Given the description of an element on the screen output the (x, y) to click on. 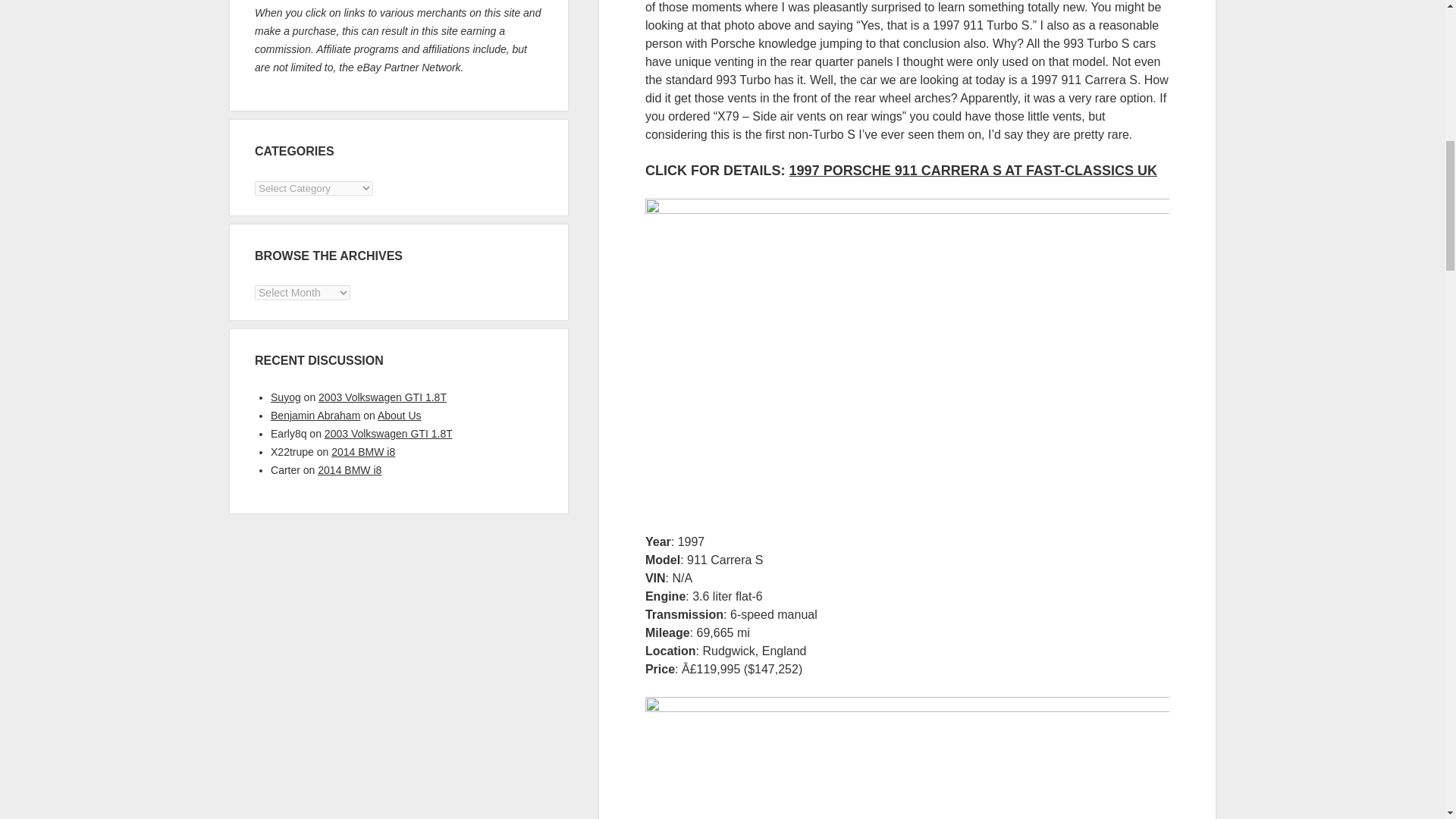
Suyog (285, 397)
2003 Volkswagen GTI 1.8T (388, 433)
2014 BMW i8 (362, 451)
Benjamin Abraham (314, 415)
About Us (399, 415)
2003 Volkswagen GTI 1.8T (382, 397)
1997 PORSCHE 911 CARRERA S AT FAST-CLASSICS UK (973, 170)
2014 BMW i8 (349, 469)
